Given the description of an element on the screen output the (x, y) to click on. 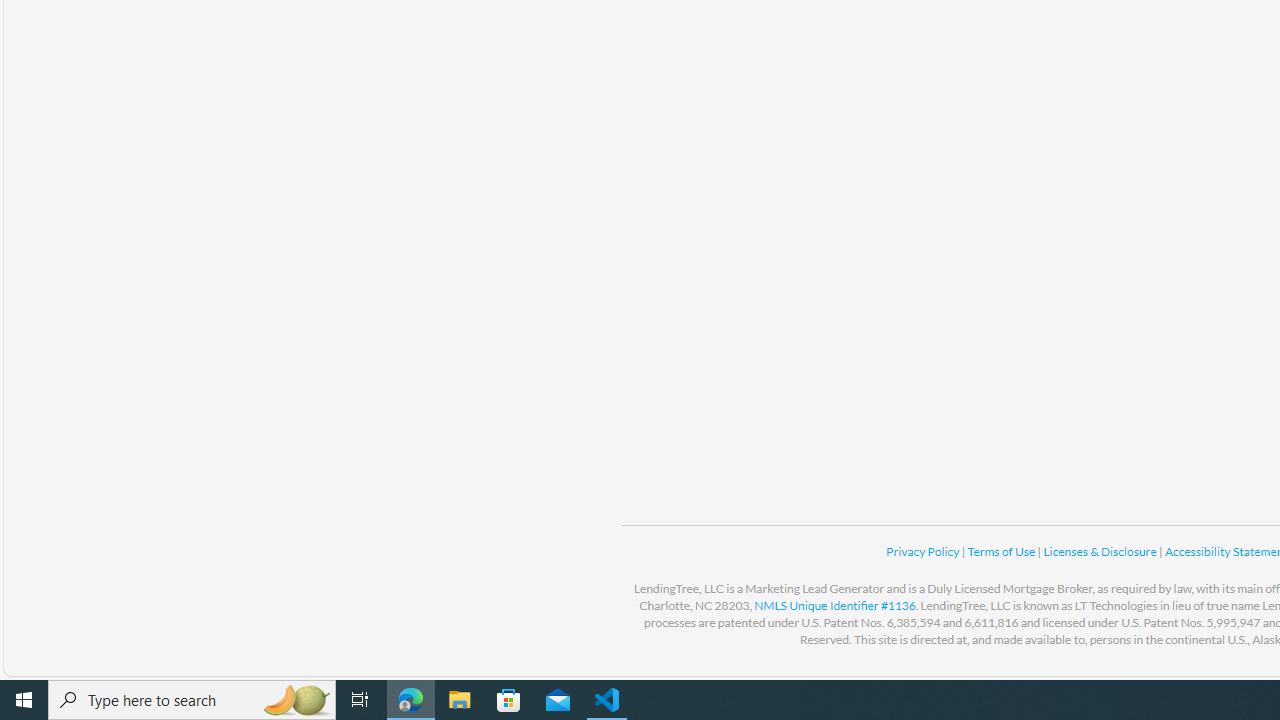
Terms of Use  (1002, 551)
NMLS Unique Identifier #1136 (834, 605)
Licenses & Disclosure  (1100, 551)
Privacy Policy  (923, 551)
